Given the description of an element on the screen output the (x, y) to click on. 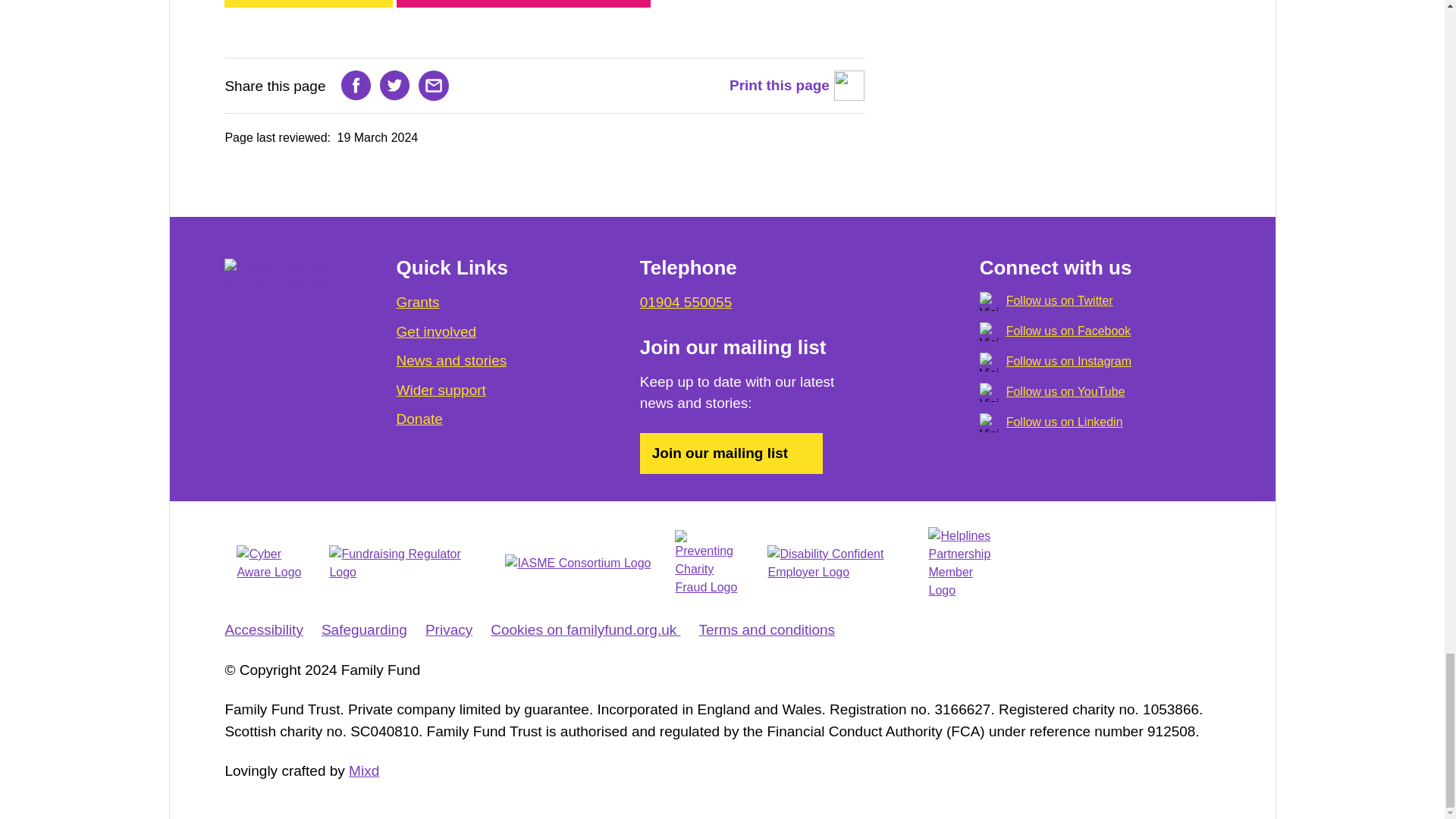
Family Fund Homepage (285, 276)
Share on Twitter (395, 85)
Share via Email (433, 85)
Share on Facebook (355, 85)
